Given the description of an element on the screen output the (x, y) to click on. 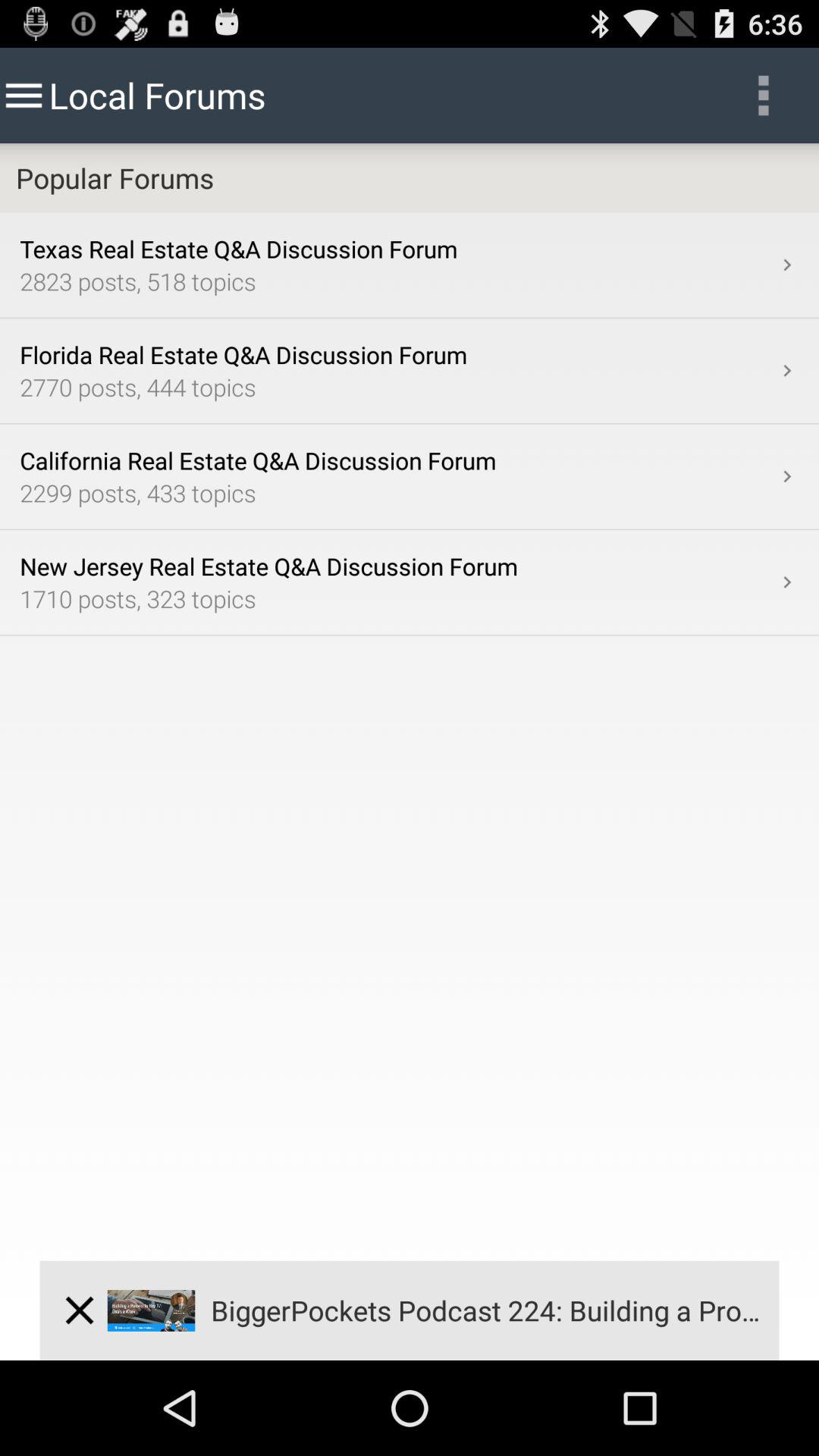
turn on icon above the new jersey real app (787, 476)
